Given the description of an element on the screen output the (x, y) to click on. 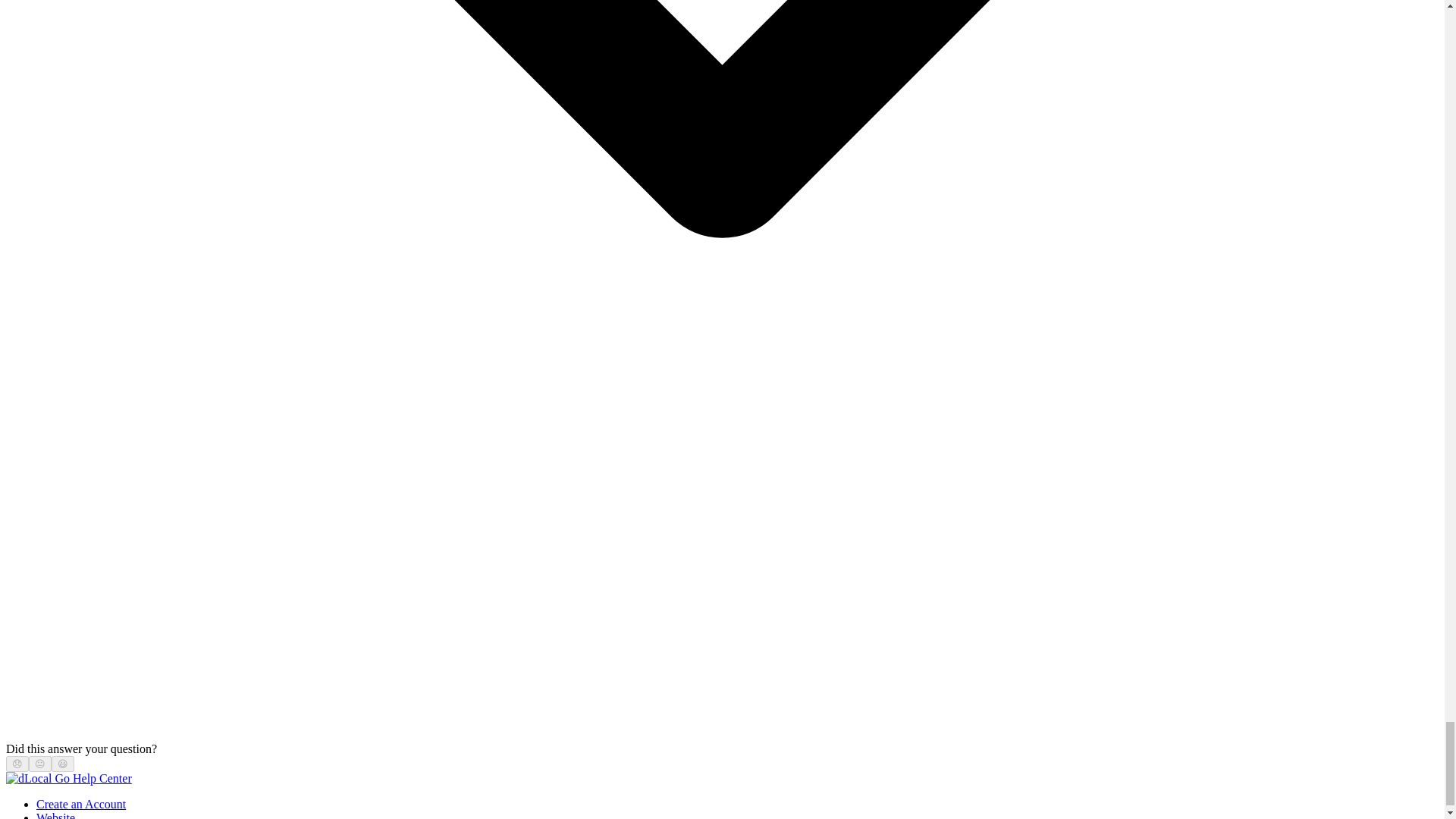
Create an Account (80, 803)
Disappointed (17, 763)
Neutral (39, 763)
Smiley (63, 763)
